Given the description of an element on the screen output the (x, y) to click on. 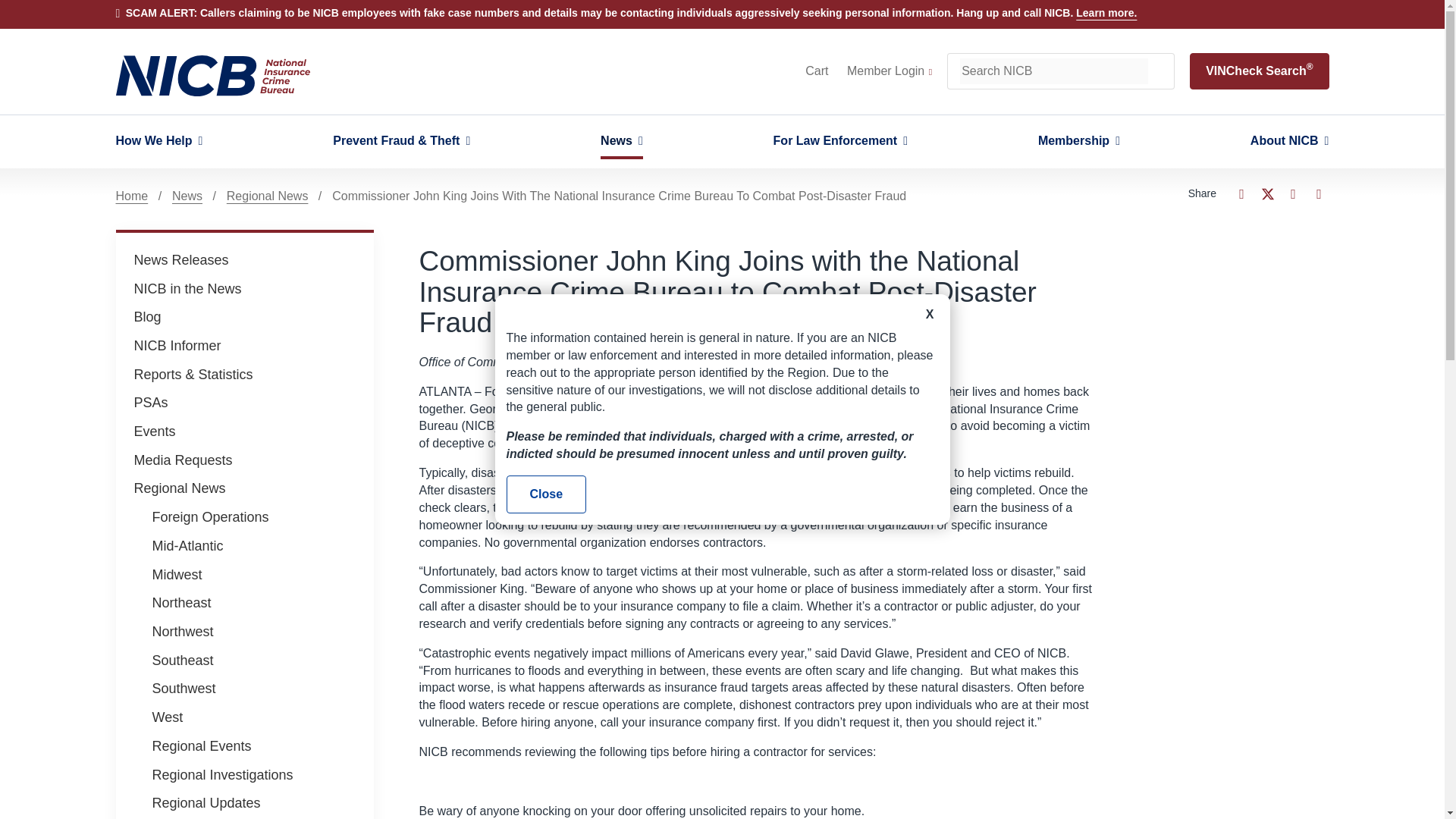
Cart (816, 71)
Search (1160, 71)
Enter the terms you wish to search for. (1053, 71)
How We Help (158, 141)
Member Login (889, 71)
Learn more. (1106, 12)
